Given the description of an element on the screen output the (x, y) to click on. 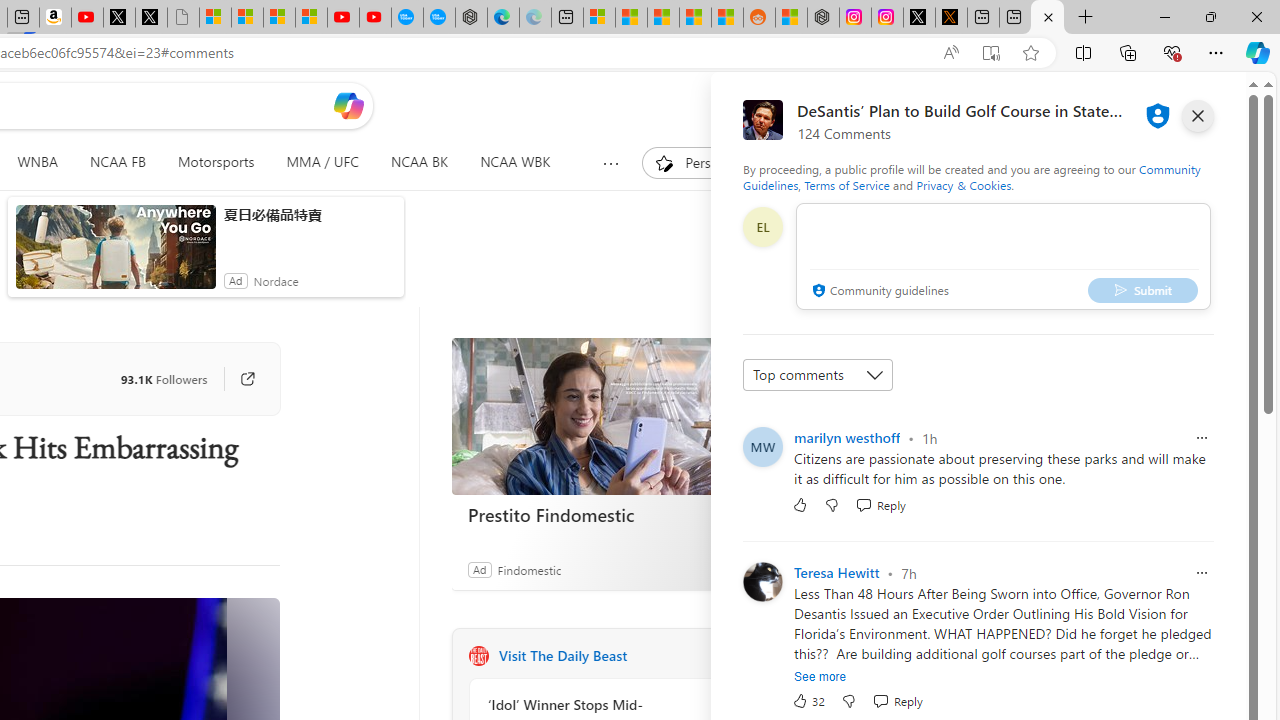
Ad (479, 569)
help.x.com | 524: A timeout occurred (950, 17)
NCAA FB (117, 162)
Motorsports (216, 162)
Like (799, 504)
Prestito Findomestic (601, 515)
To get missing image descriptions, open the context menu. (664, 162)
Open settings (1216, 105)
Go to publisher's site (237, 378)
NCAA FB (118, 162)
Submit (1143, 290)
